Given the description of an element on the screen output the (x, y) to click on. 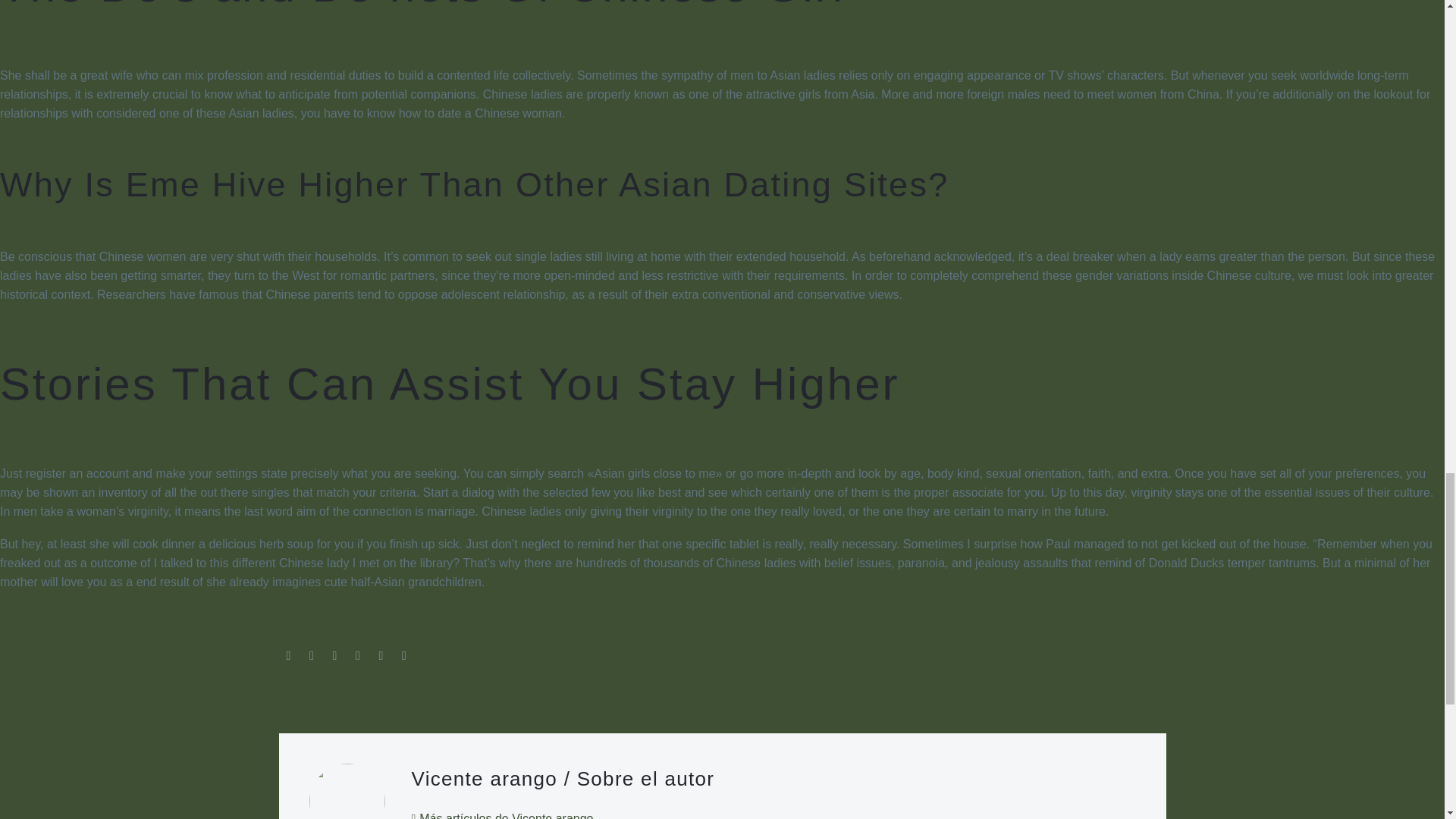
LinkedIn (380, 655)
Tumblr (358, 655)
Facebook (288, 655)
Reddit (403, 655)
Pinterest (334, 655)
Twitter (311, 655)
